Given the description of an element on the screen output the (x, y) to click on. 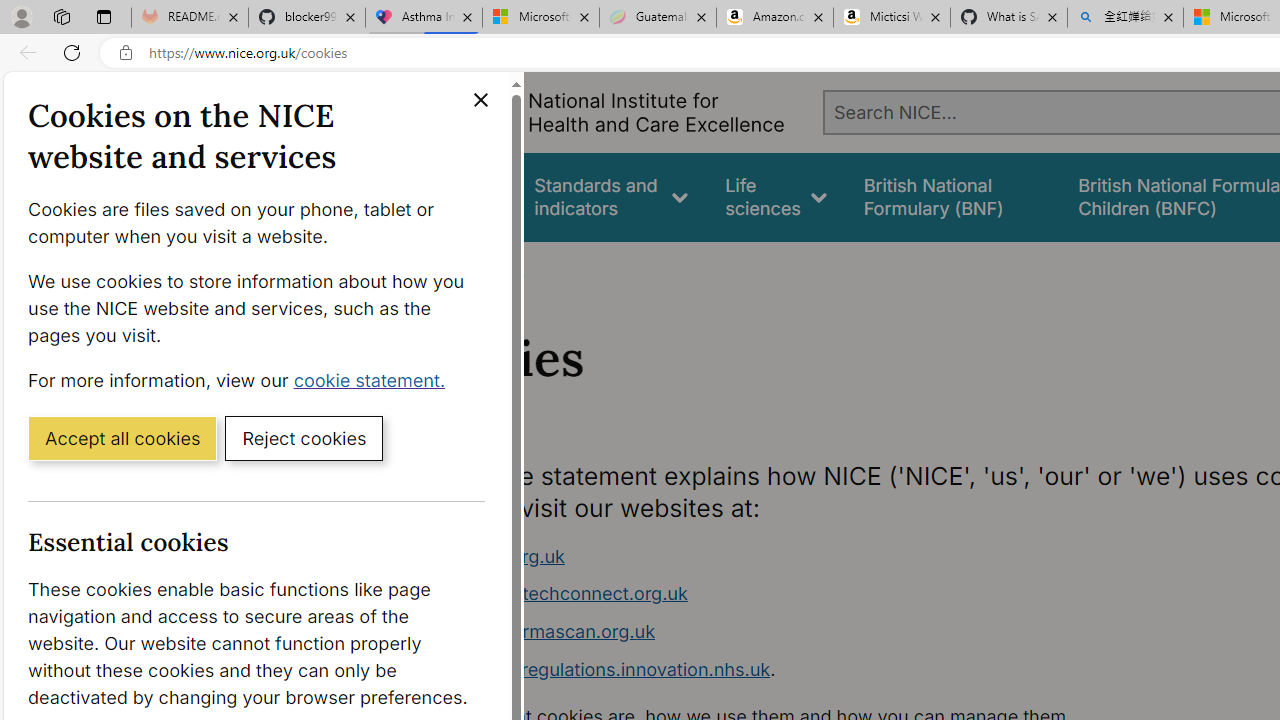
www.digitalregulations.innovation.nhs.uk (595, 668)
Life sciences (776, 196)
www.nice.org.uk (492, 556)
Guidance (458, 196)
Reject cookies (304, 437)
